Given the description of an element on the screen output the (x, y) to click on. 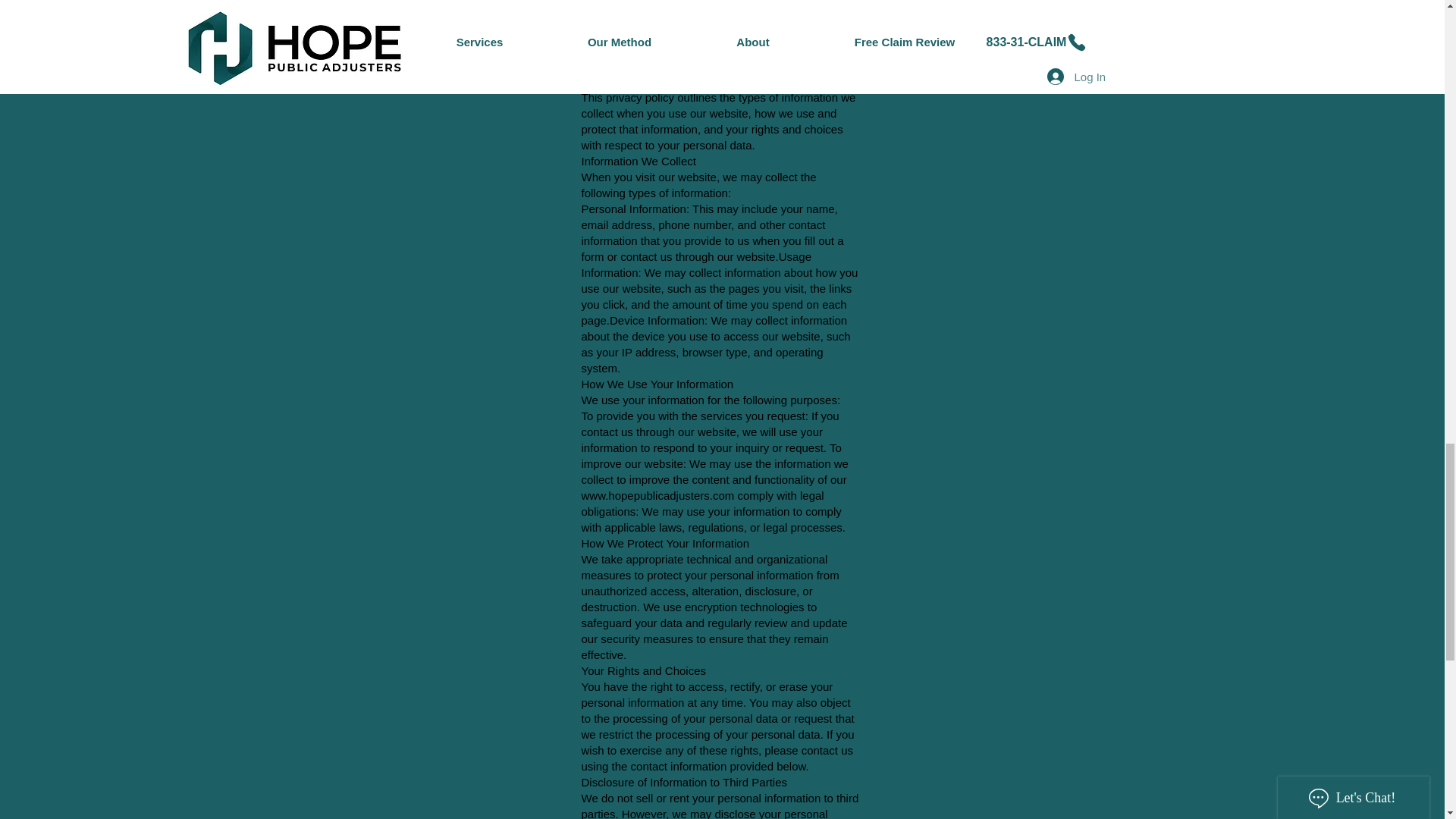
www.hopepublicadjusters.com (656, 494)
